Given the description of an element on the screen output the (x, y) to click on. 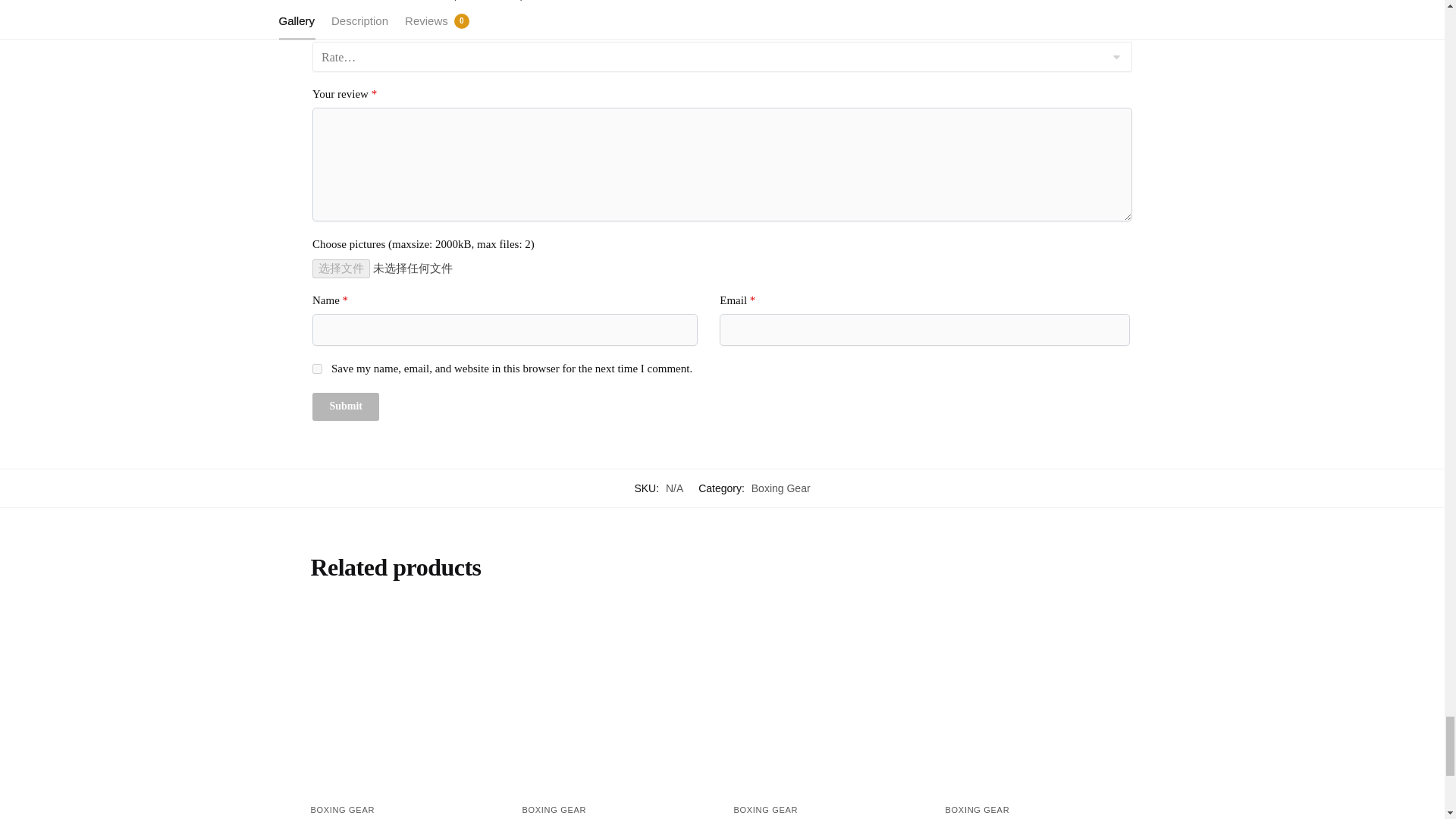
yes (317, 368)
Submit (345, 406)
